Given the description of an element on the screen output the (x, y) to click on. 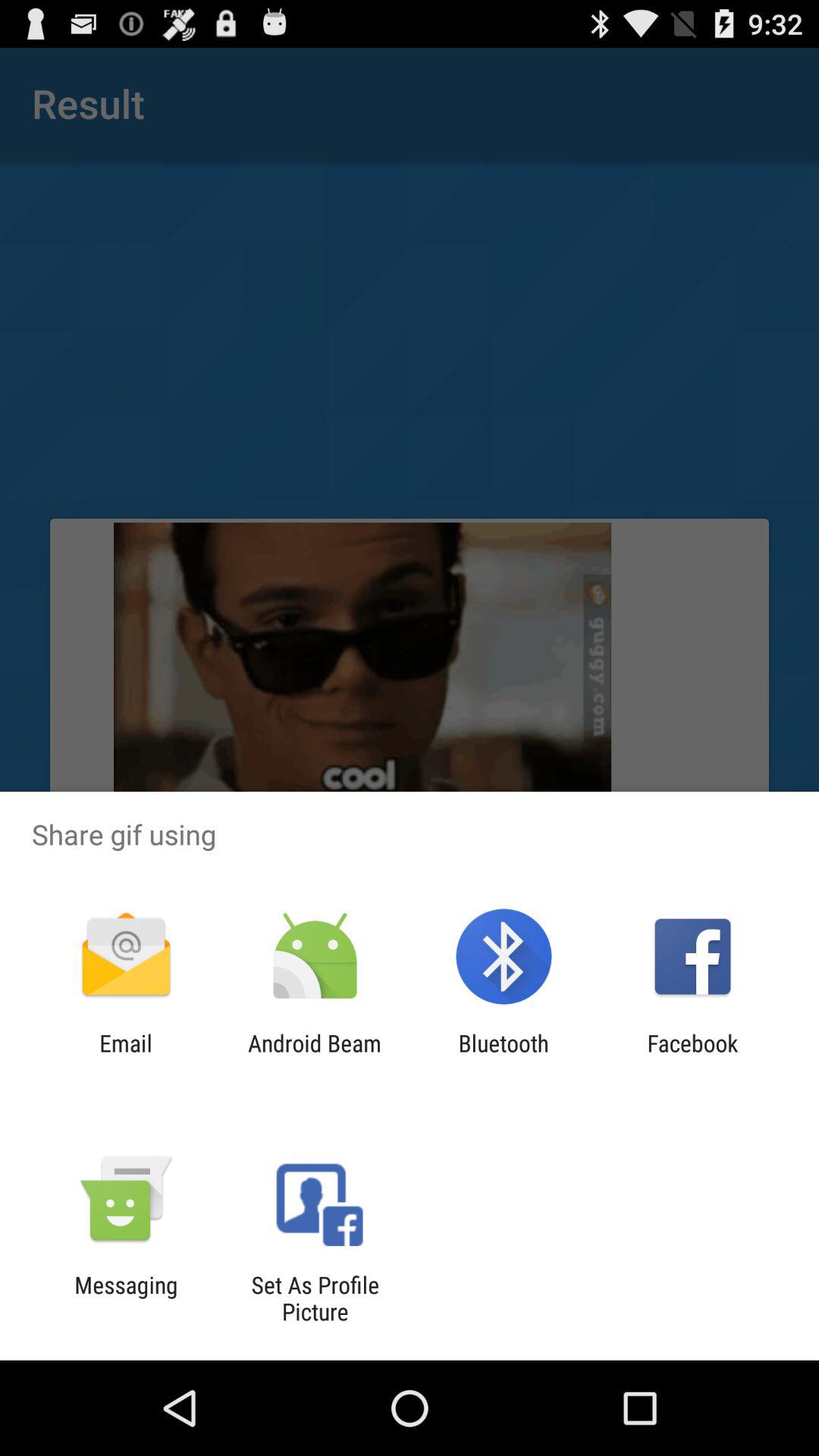
swipe to android beam app (314, 1056)
